Given the description of an element on the screen output the (x, y) to click on. 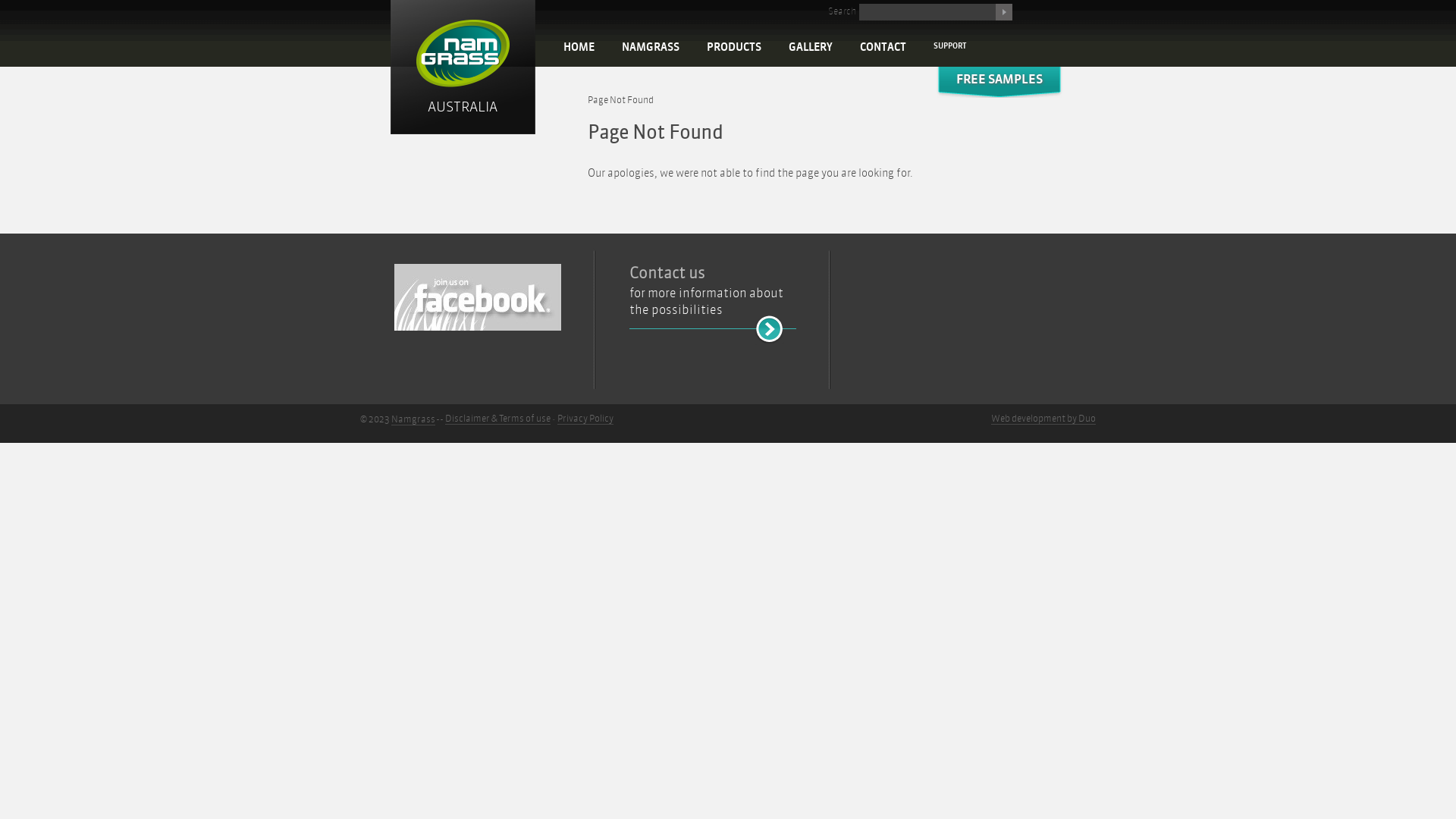
SUPPORT Element type: text (949, 46)
Disclaimer & Terms of use Element type: text (497, 418)
Namgrass Element type: text (413, 419)
Privacy Policy Element type: text (585, 418)
AUSTRALIA Element type: text (462, 68)
FREE SAMPLES Element type: text (999, 87)
HOME Element type: text (578, 47)
Web development by Duo Element type: text (1043, 418)
CONTACT Element type: text (882, 47)
Page Not Found Element type: text (620, 99)
Enter the terms you wish to search for. Element type: hover (927, 11)
GALLERY Element type: text (810, 47)
NAMGRASS Element type: text (650, 47)
PRODUCTS Element type: text (734, 47)
Search Element type: text (1003, 11)
